Given the description of an element on the screen output the (x, y) to click on. 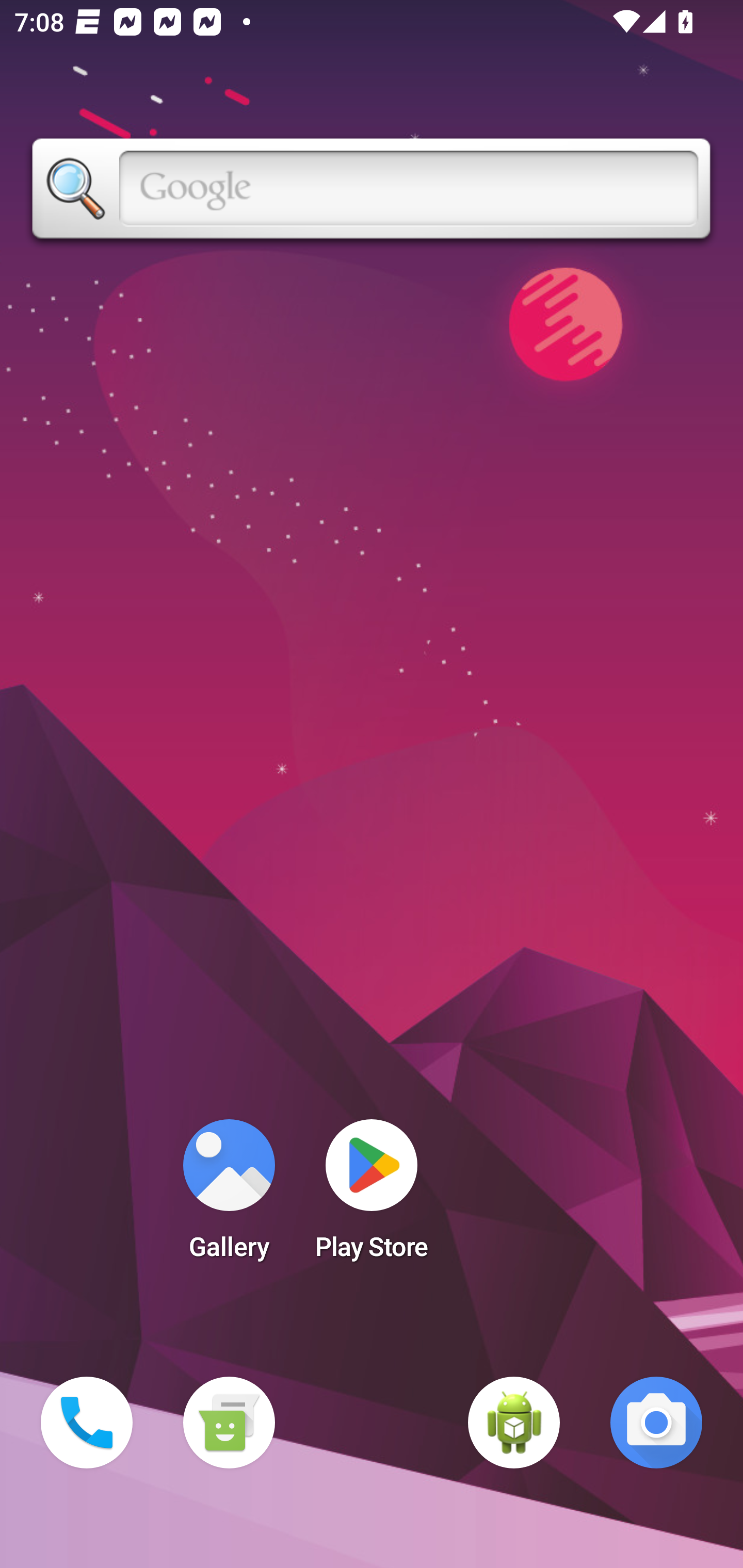
Gallery (228, 1195)
Play Store (371, 1195)
Phone (86, 1422)
Messaging (228, 1422)
WebView Browser Tester (513, 1422)
Camera (656, 1422)
